Given the description of an element on the screen output the (x, y) to click on. 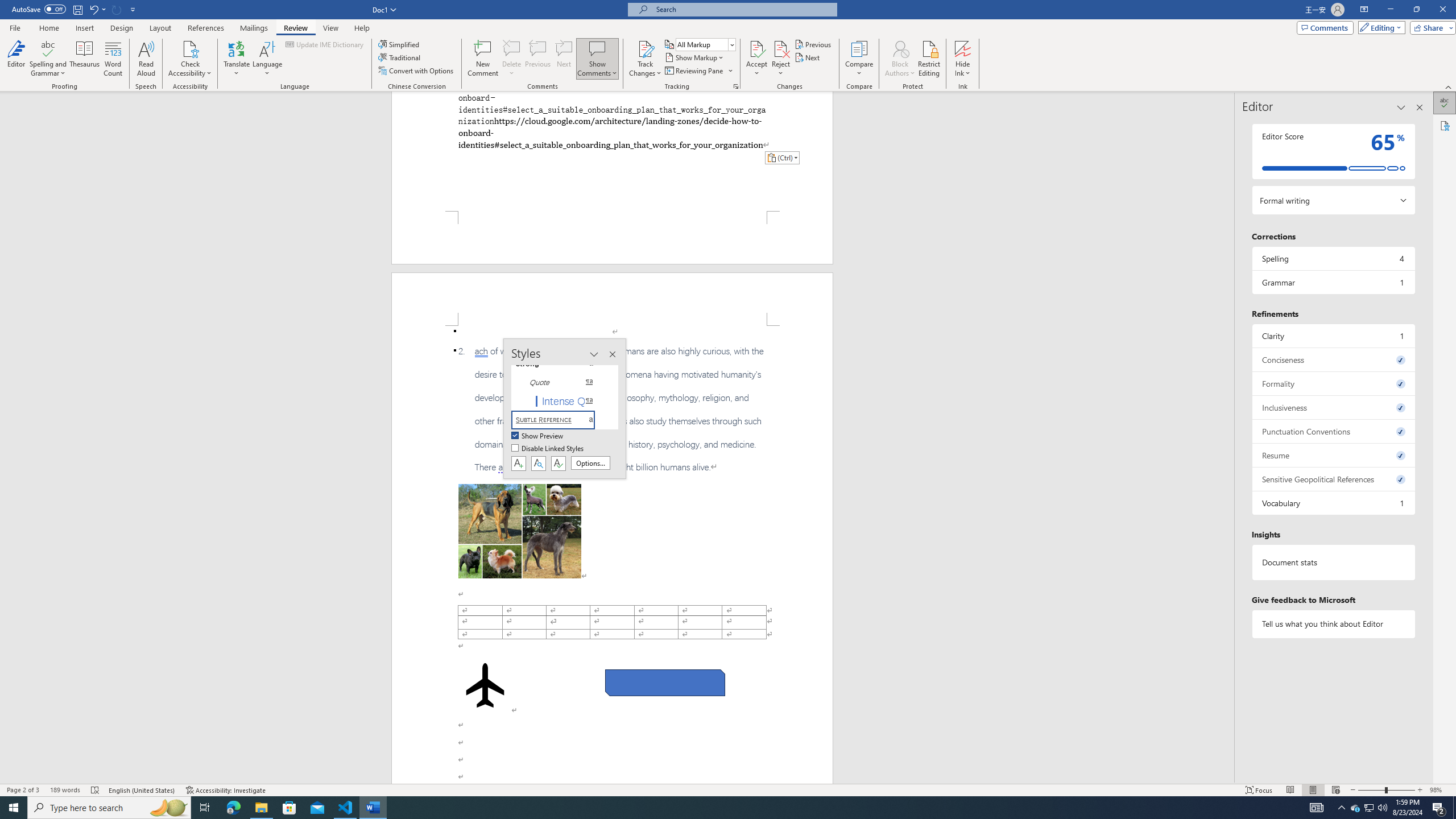
Airplane with solid fill (485, 684)
Hide Ink (962, 48)
Track Changes (644, 58)
Clarity, 1 issue. Press space or enter to review items. (1333, 335)
Translate (236, 58)
Spelling, 4 issues. Press space or enter to review items. (1333, 258)
Vocabulary, 1 issue. Press space or enter to review items. (1333, 502)
Previous (813, 44)
Hide Ink (962, 58)
